Given the description of an element on the screen output the (x, y) to click on. 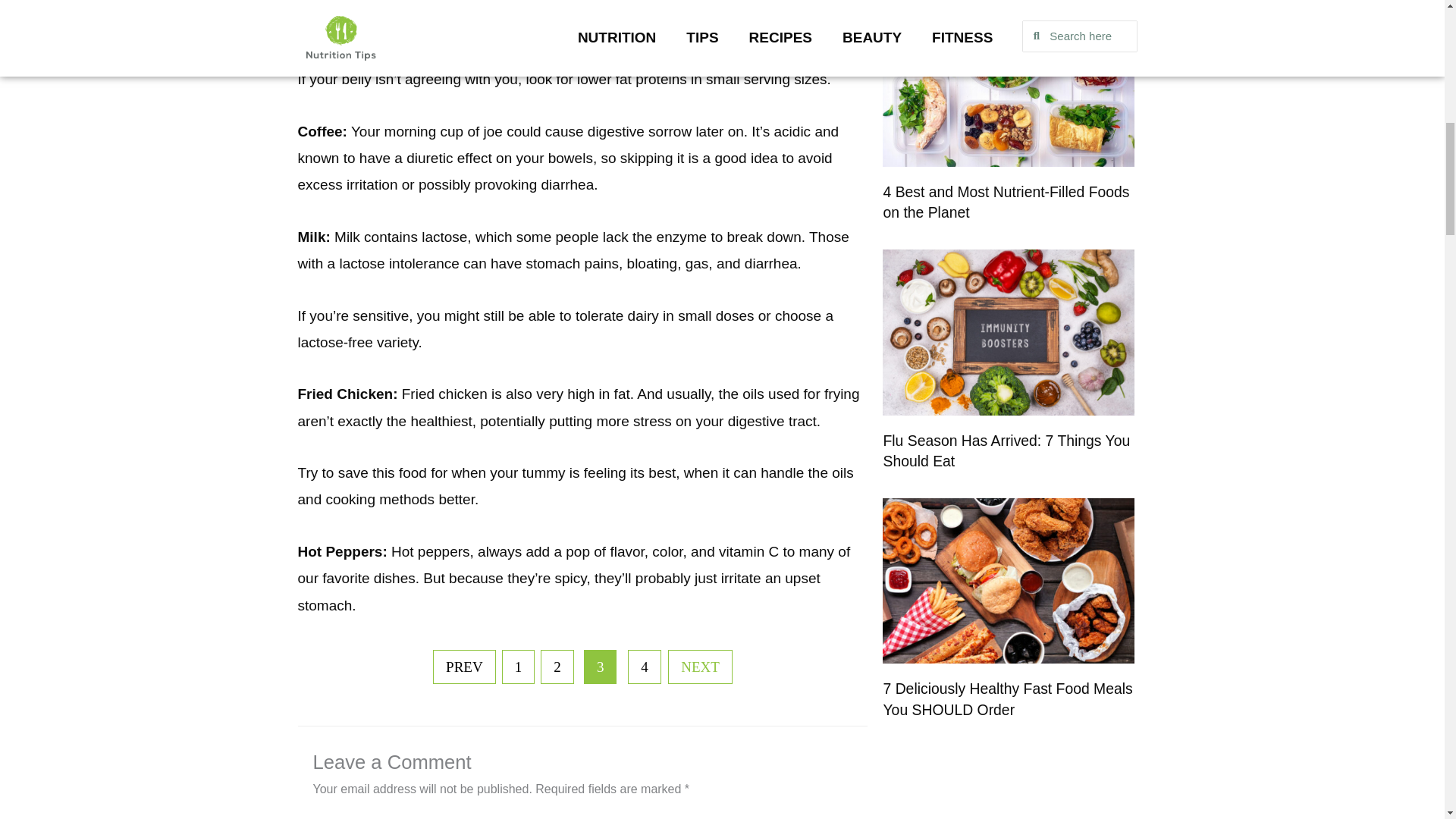
PREV (464, 666)
